Given the description of an element on the screen output the (x, y) to click on. 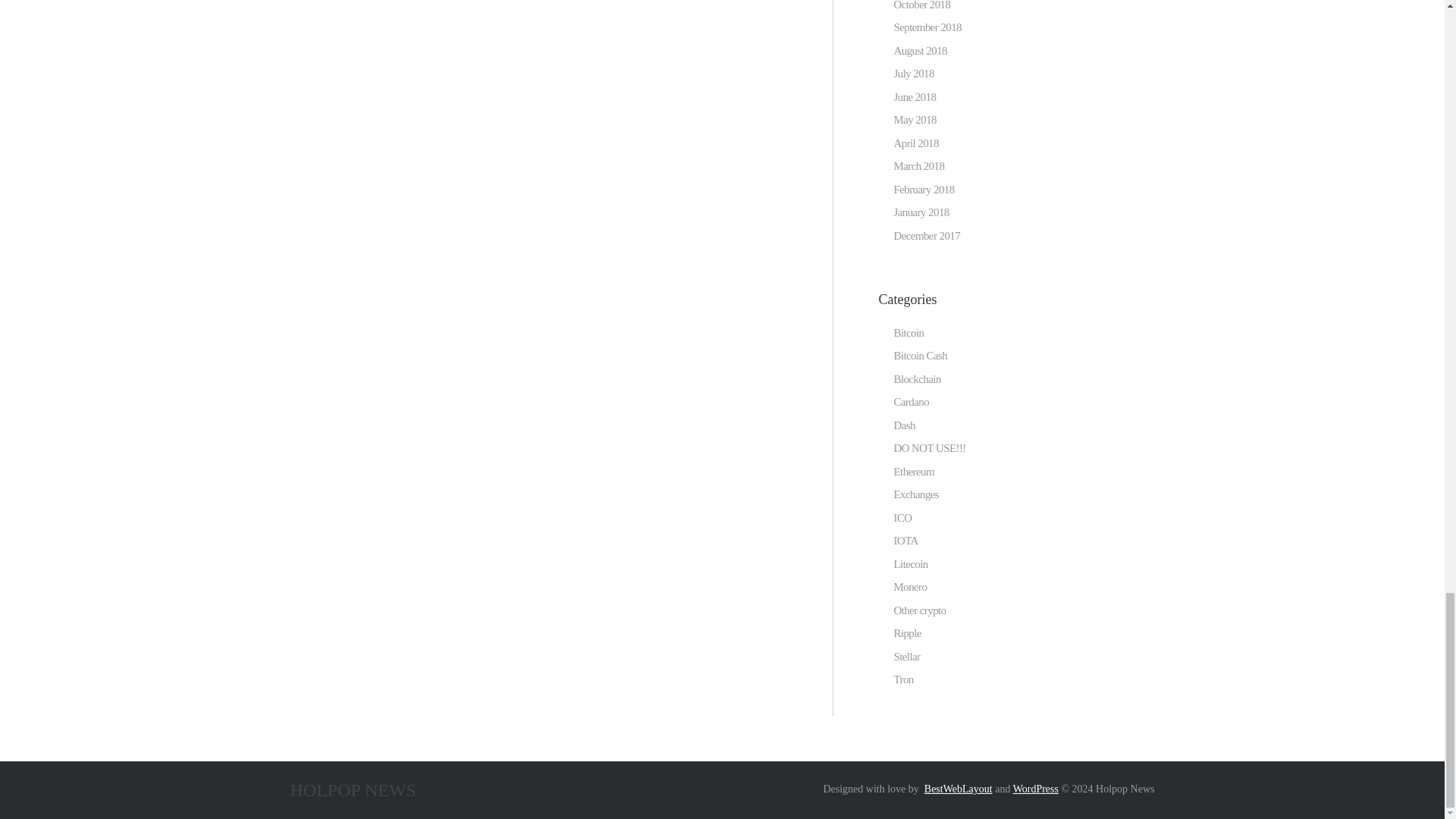
BLKCH (916, 378)
ICO (902, 517)
EXCH (916, 494)
Crypto Coins (918, 609)
